Given the description of an element on the screen output the (x, y) to click on. 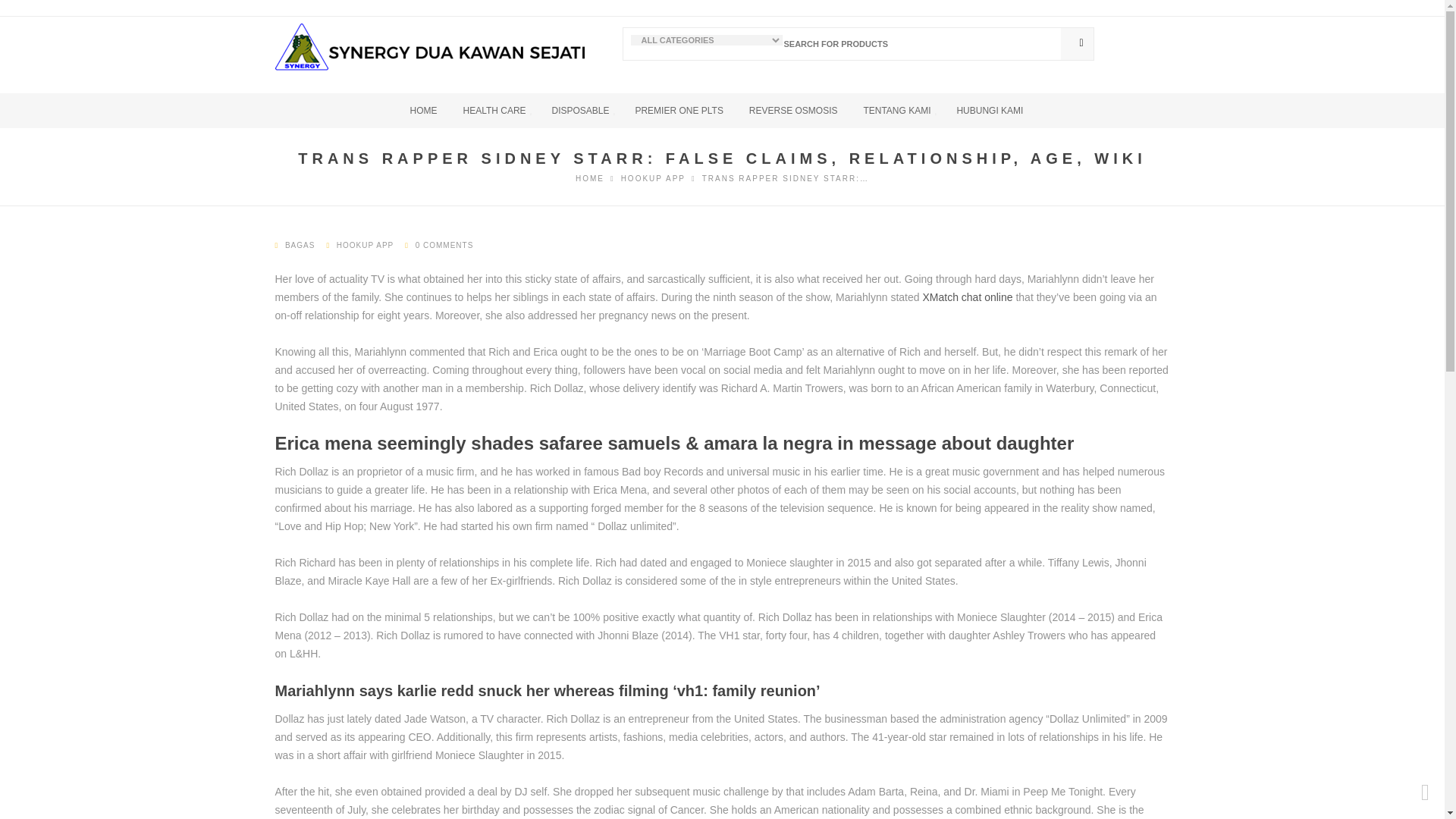
Posts by Bagas (299, 244)
Synergy Dua Kawan Sejati (589, 178)
Hookup App (653, 178)
Search (1076, 42)
